Given the description of an element on the screen output the (x, y) to click on. 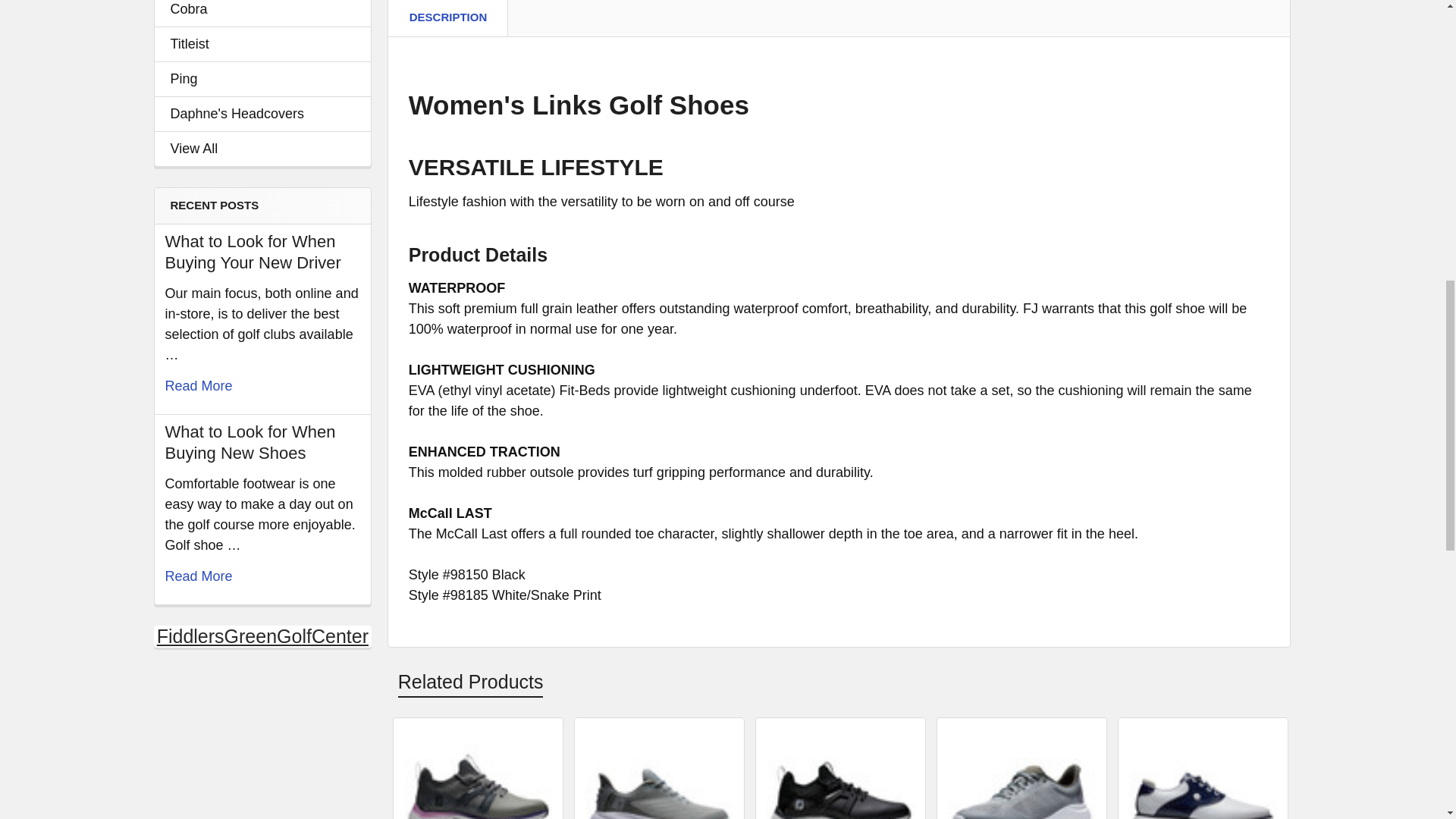
Daphne's Headcovers (262, 114)
Ping (262, 78)
Titleist (262, 44)
Cobra (262, 9)
